Given the description of an element on the screen output the (x, y) to click on. 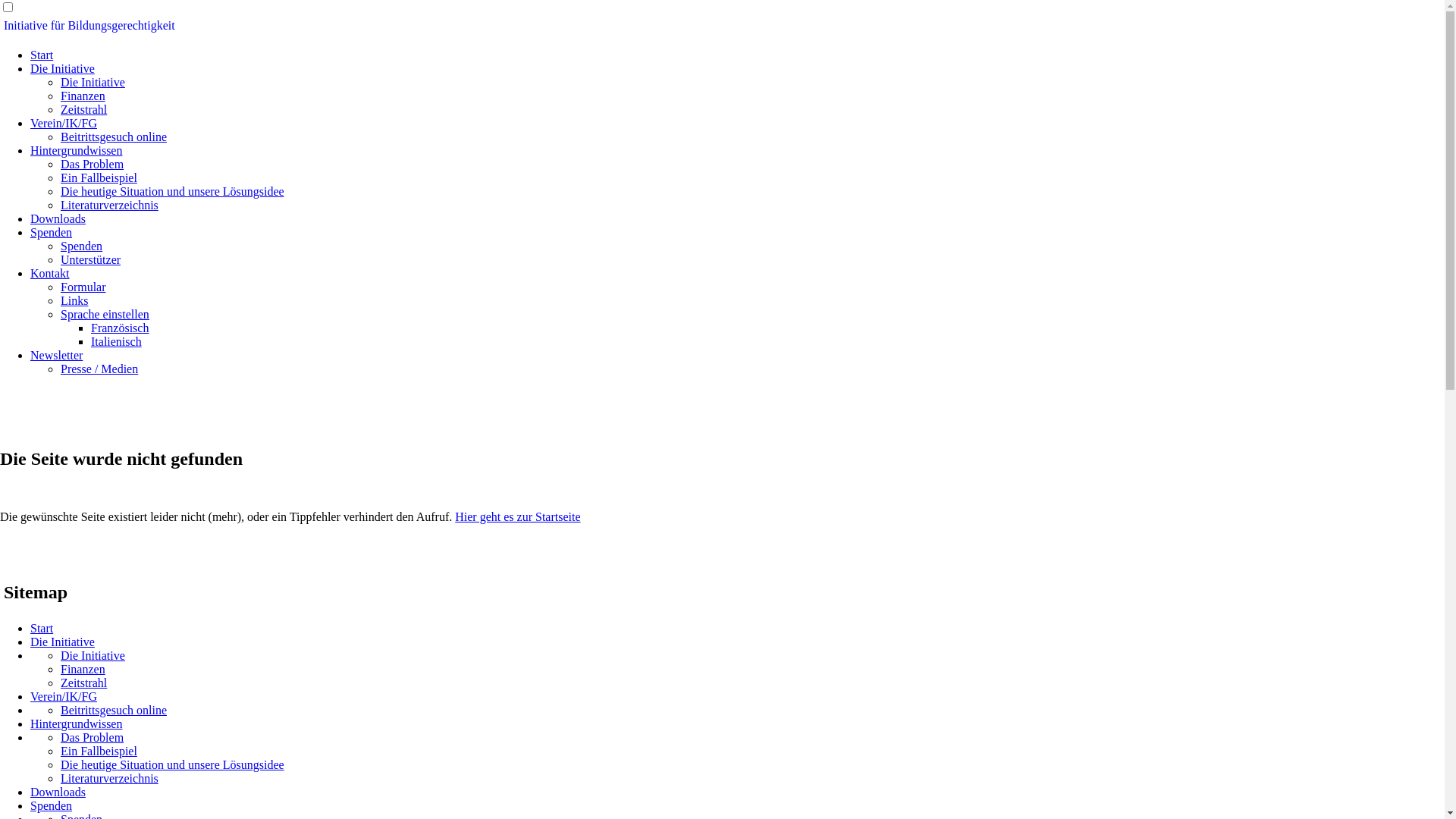
Die Initiative Element type: text (62, 68)
Spenden Element type: text (81, 245)
Die Initiative Element type: text (92, 81)
Presse / Medien Element type: text (99, 368)
Formular Element type: text (83, 286)
Spenden Element type: text (51, 231)
Die Initiative Element type: text (62, 641)
Start Element type: text (41, 54)
Literaturverzeichnis Element type: text (109, 204)
Hintergrundwissen Element type: text (76, 150)
Beitrittsgesuch online Element type: text (113, 709)
Literaturverzeichnis Element type: text (109, 777)
Zeitstrahl Element type: text (83, 682)
Verein/IK/FG Element type: text (63, 122)
Zeitstrahl Element type: text (83, 109)
Downloads Element type: text (57, 218)
Das Problem Element type: text (91, 737)
Start Element type: text (41, 627)
Italienisch Element type: text (116, 341)
Ein Fallbeispiel Element type: text (98, 177)
Hintergrundwissen Element type: text (76, 723)
Verein/IK/FG Element type: text (63, 696)
Spenden Element type: text (51, 805)
Finanzen Element type: text (82, 668)
Downloads Element type: text (57, 791)
Sprache einstellen Element type: text (104, 313)
Links Element type: text (73, 300)
Das Problem Element type: text (91, 163)
Newsletter Element type: text (56, 354)
Beitrittsgesuch online Element type: text (113, 136)
Hier geht es zur Startseite Element type: text (517, 516)
Finanzen Element type: text (82, 95)
Ein Fallbeispiel Element type: text (98, 750)
Kontakt Element type: text (49, 272)
Die Initiative Element type: text (92, 655)
